Given the description of an element on the screen output the (x, y) to click on. 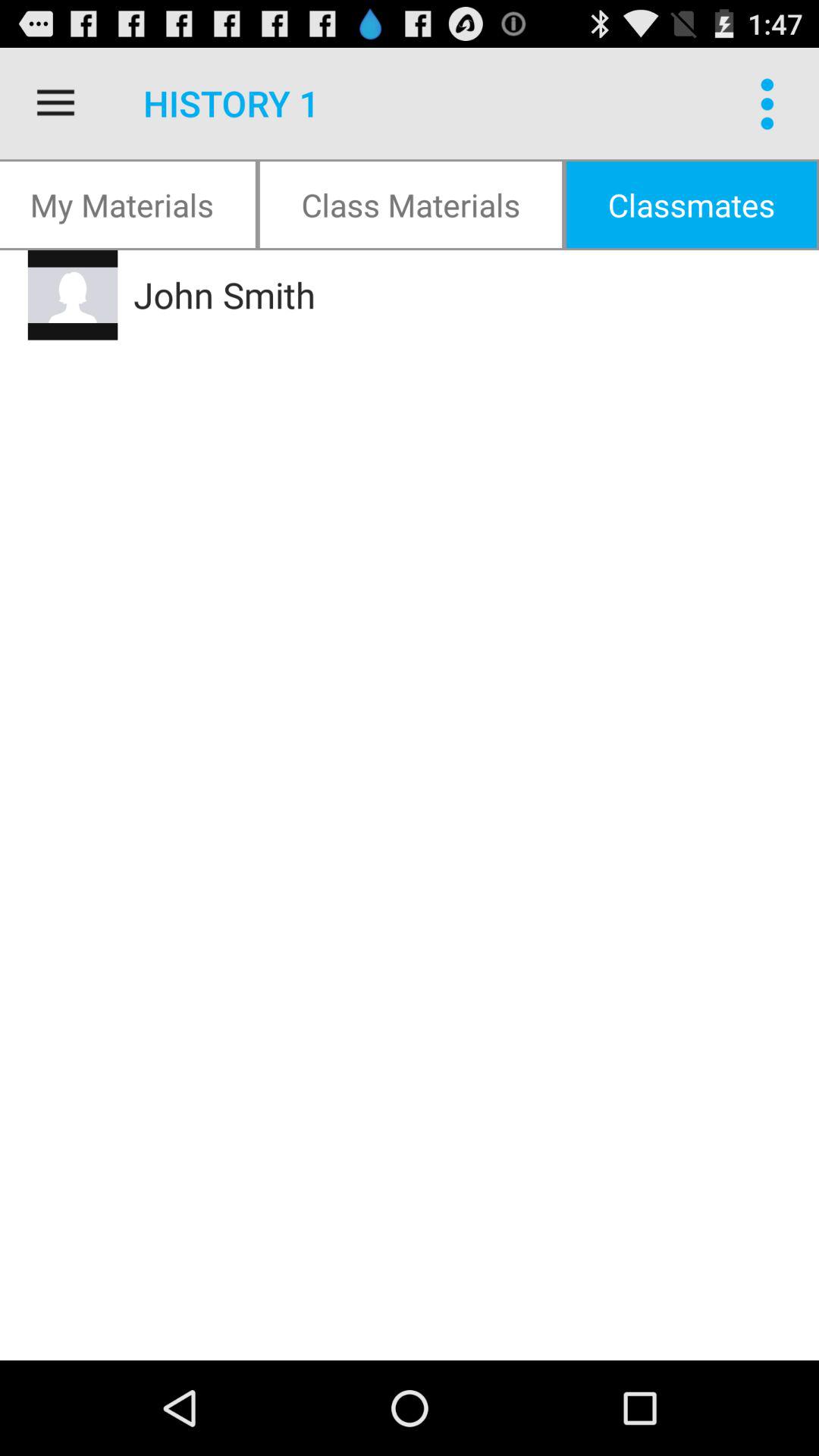
launch icon next to history 1 (55, 103)
